Given the description of an element on the screen output the (x, y) to click on. 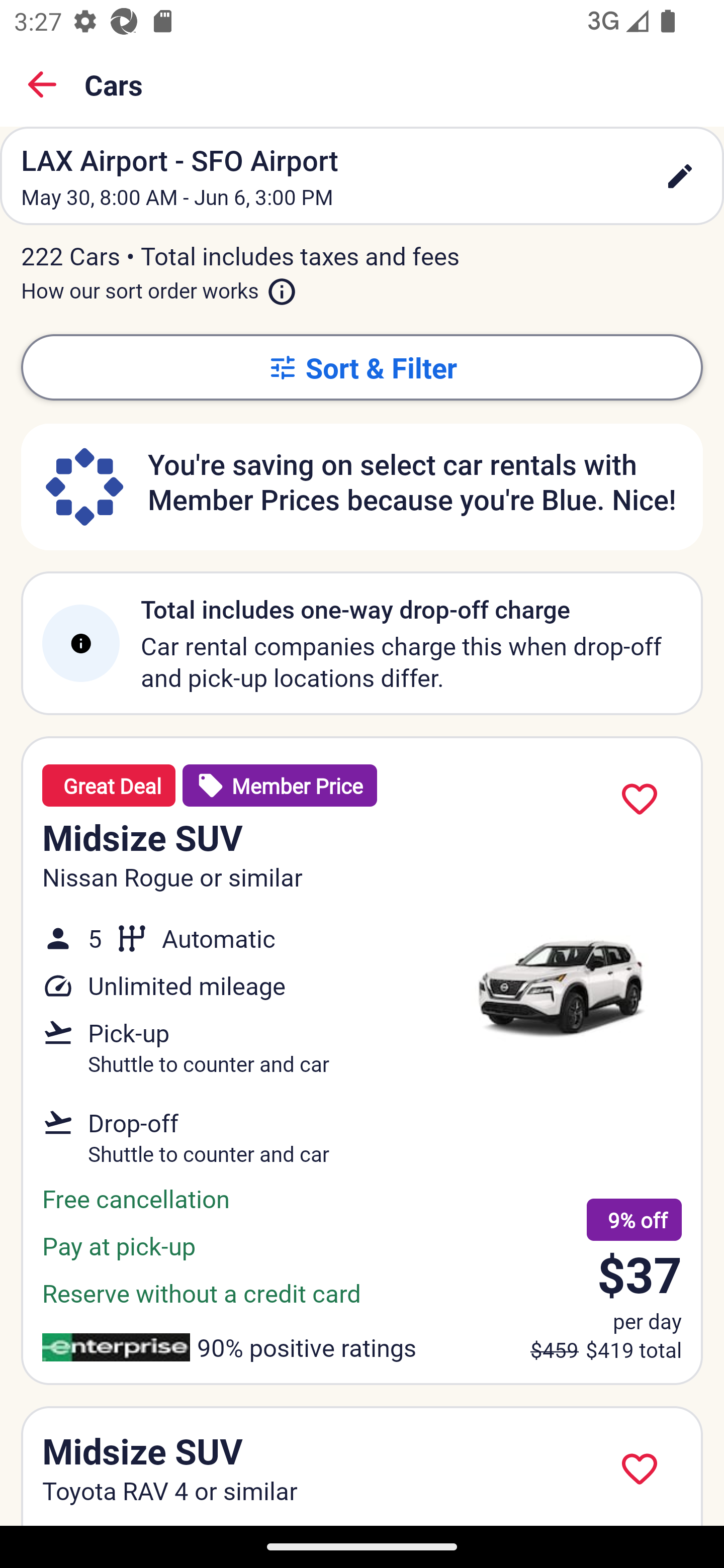
Back (42, 84)
edit (679, 175)
Sort & Filter (361, 366)
